Given the description of an element on the screen output the (x, y) to click on. 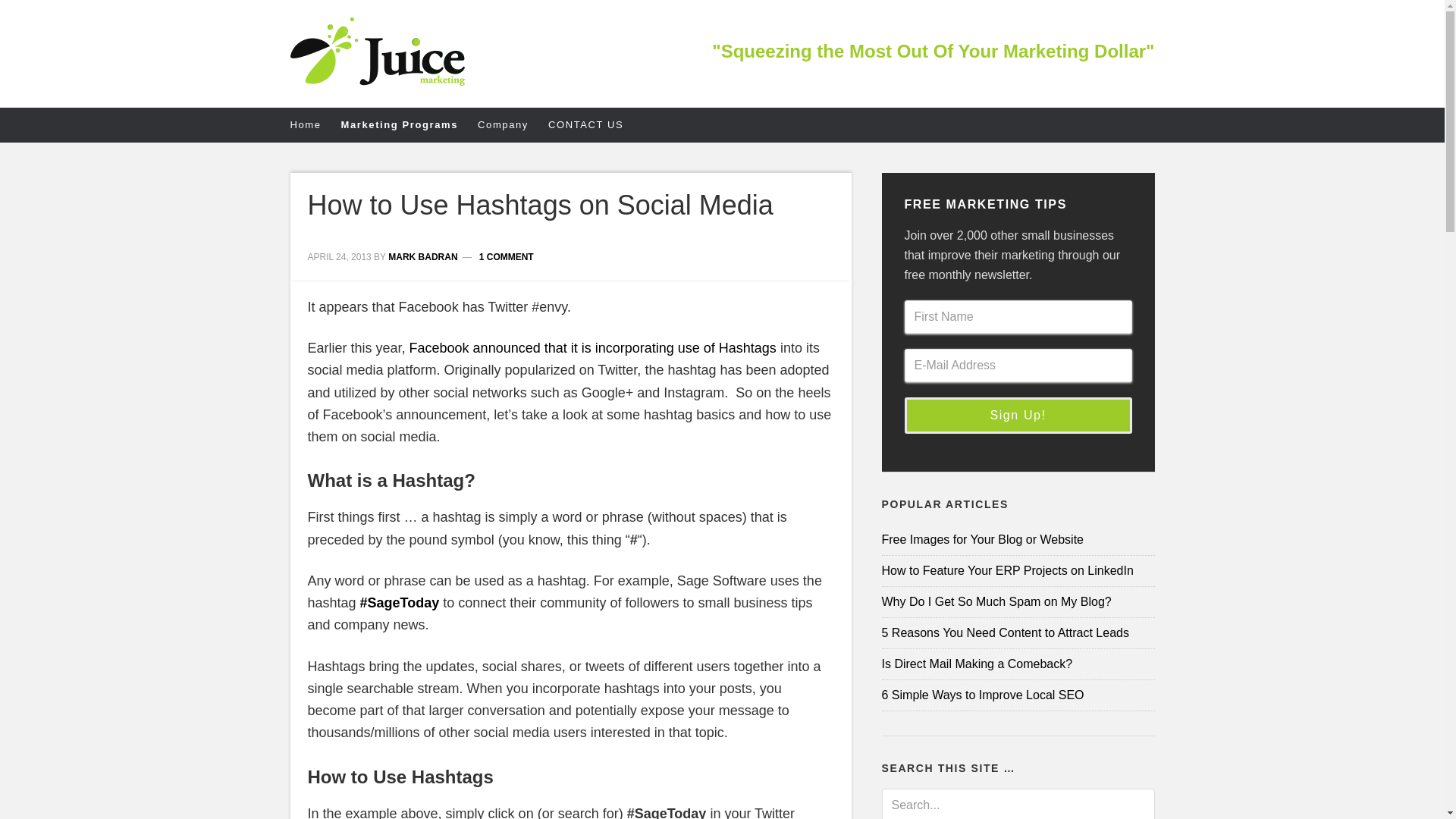
MARK BADRAN (422, 256)
Why Do I Get So Much Spam on My Blog? (1017, 602)
5 Reasons You Need Content to Attract Leads (1017, 632)
How to Feature Your ERP Projects on LinkedIn (1017, 570)
1 COMMENT (506, 256)
Is Direct Mail Making a Comeback? (1017, 664)
Free Images for Your Blog or Website (1017, 540)
Company (512, 124)
